Given the description of an element on the screen output the (x, y) to click on. 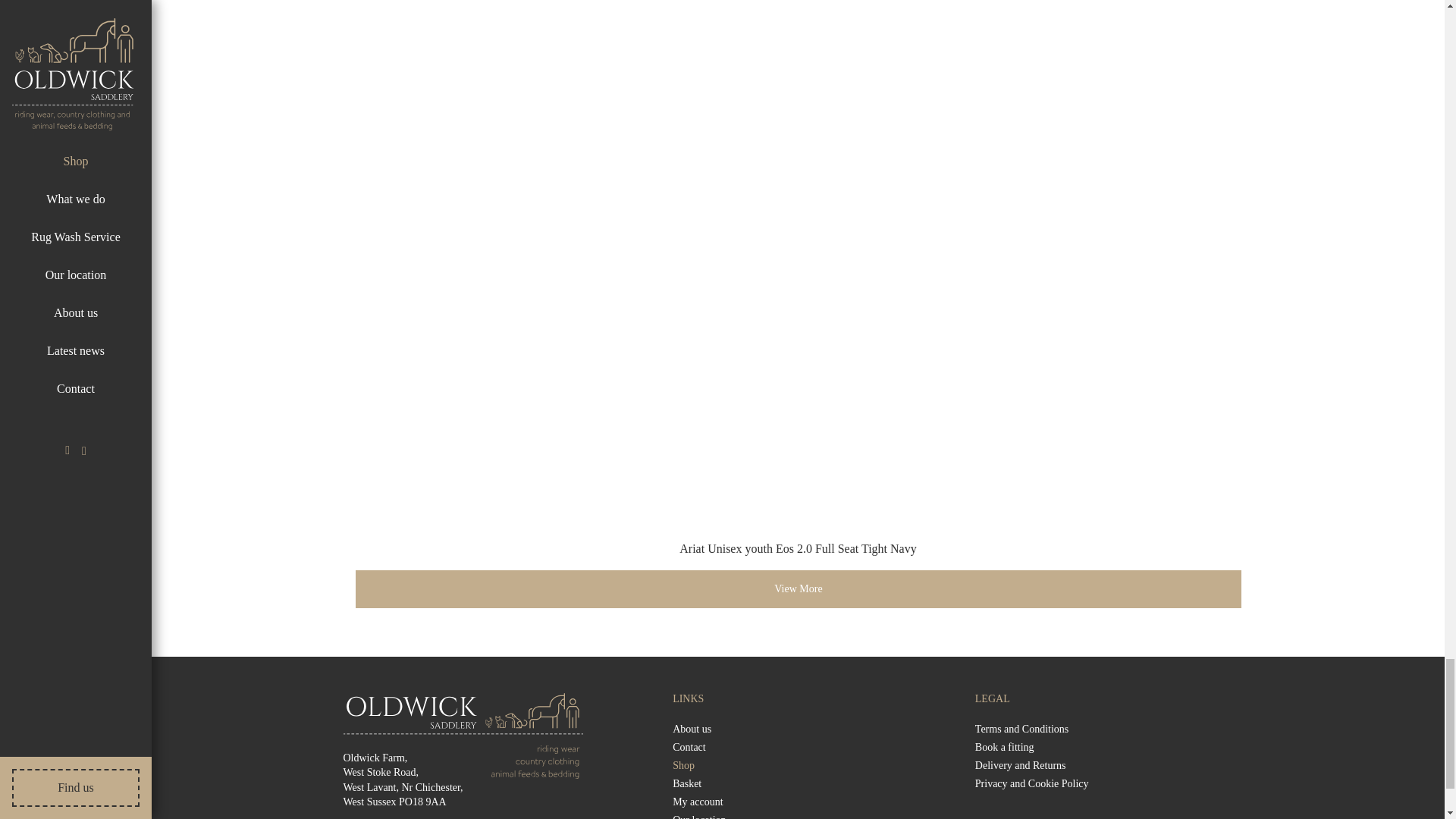
My account (697, 802)
Shop (683, 766)
Basket (686, 784)
Terms and Conditions (1021, 729)
Our location (698, 816)
View More (797, 589)
About us (691, 729)
Contact (689, 747)
Oldwick Saddlery (462, 726)
Book a fitting (1004, 747)
